Given the description of an element on the screen output the (x, y) to click on. 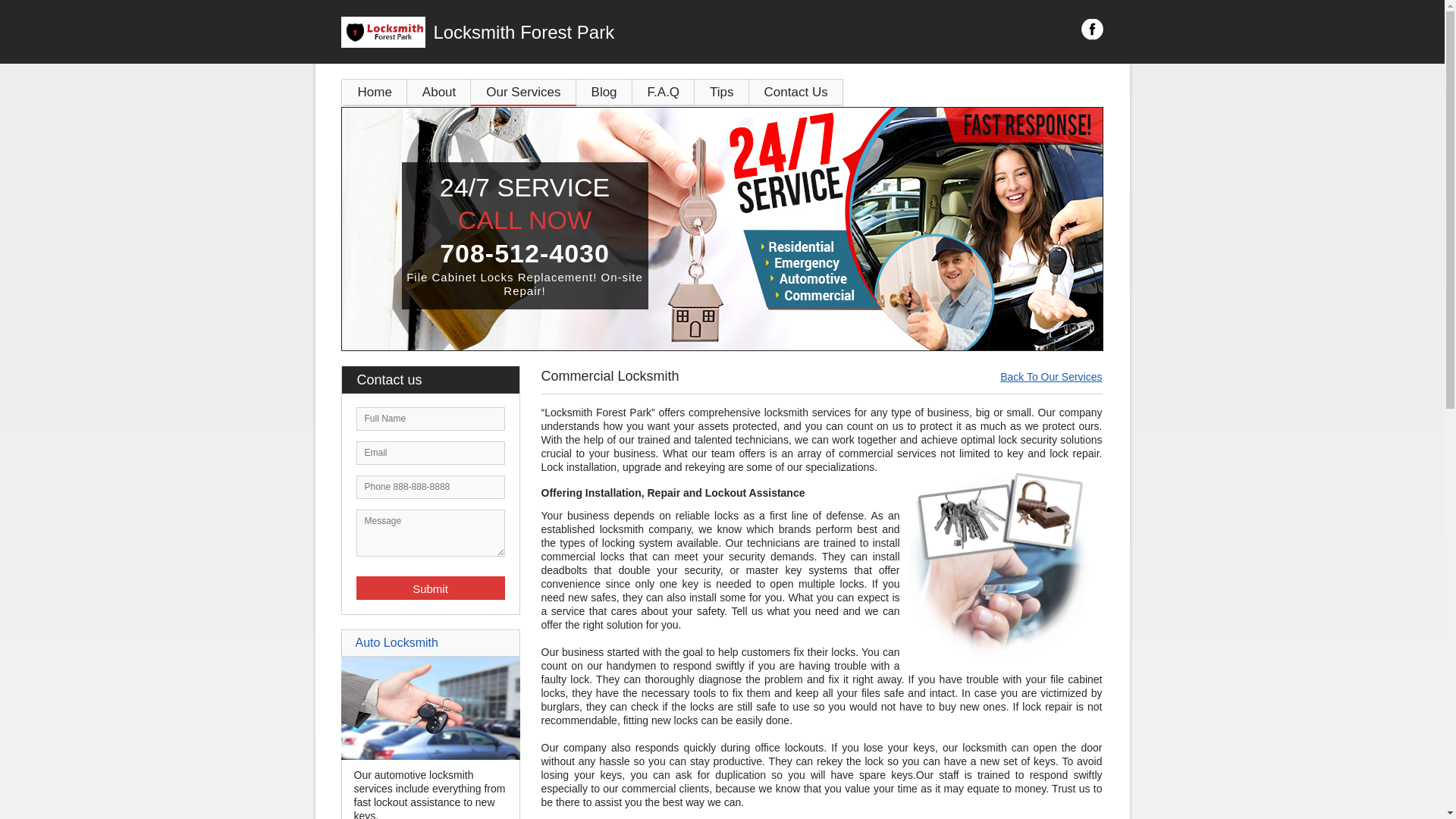
Locksmith Forest Park, IL | 708-512-4030 | Lock & Key Element type: hover (722, 228)
Home Element type: text (374, 91)
Contact us Element type: text (437, 379)
F.A.Q Element type: text (663, 91)
Tips Element type: text (721, 91)
Auto Locksmith Element type: hover (430, 755)
Auto Locksmith Element type: text (395, 642)
Our Services Element type: text (522, 91)
Commercial Locksmith in Forest Park Element type: hover (1000, 562)
About Element type: text (438, 91)
Facebook Element type: text (1092, 29)
Submit Element type: text (430, 587)
Contact Us Element type: text (796, 91)
Back To Our Services Element type: text (1050, 376)
Blog Element type: text (604, 91)
Locksmith Forest Park Element type: text (606, 32)
